Given the description of an element on the screen output the (x, y) to click on. 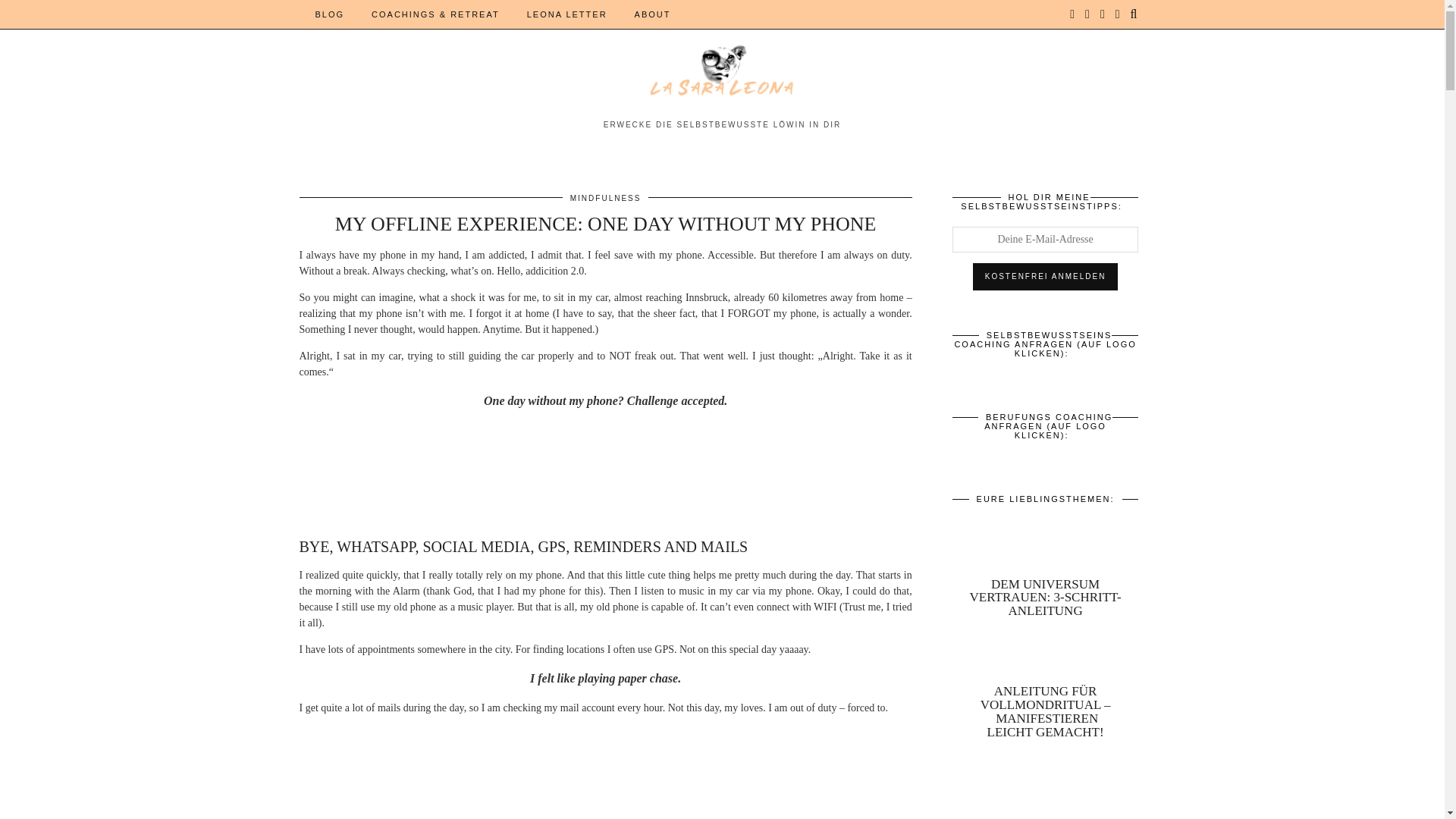
KOSTENFREI ANMELDEN (1045, 276)
La Sara Leona (721, 79)
BLOG (329, 14)
LEONA LETTER (567, 14)
ABOUT (652, 14)
